Given the description of an element on the screen output the (x, y) to click on. 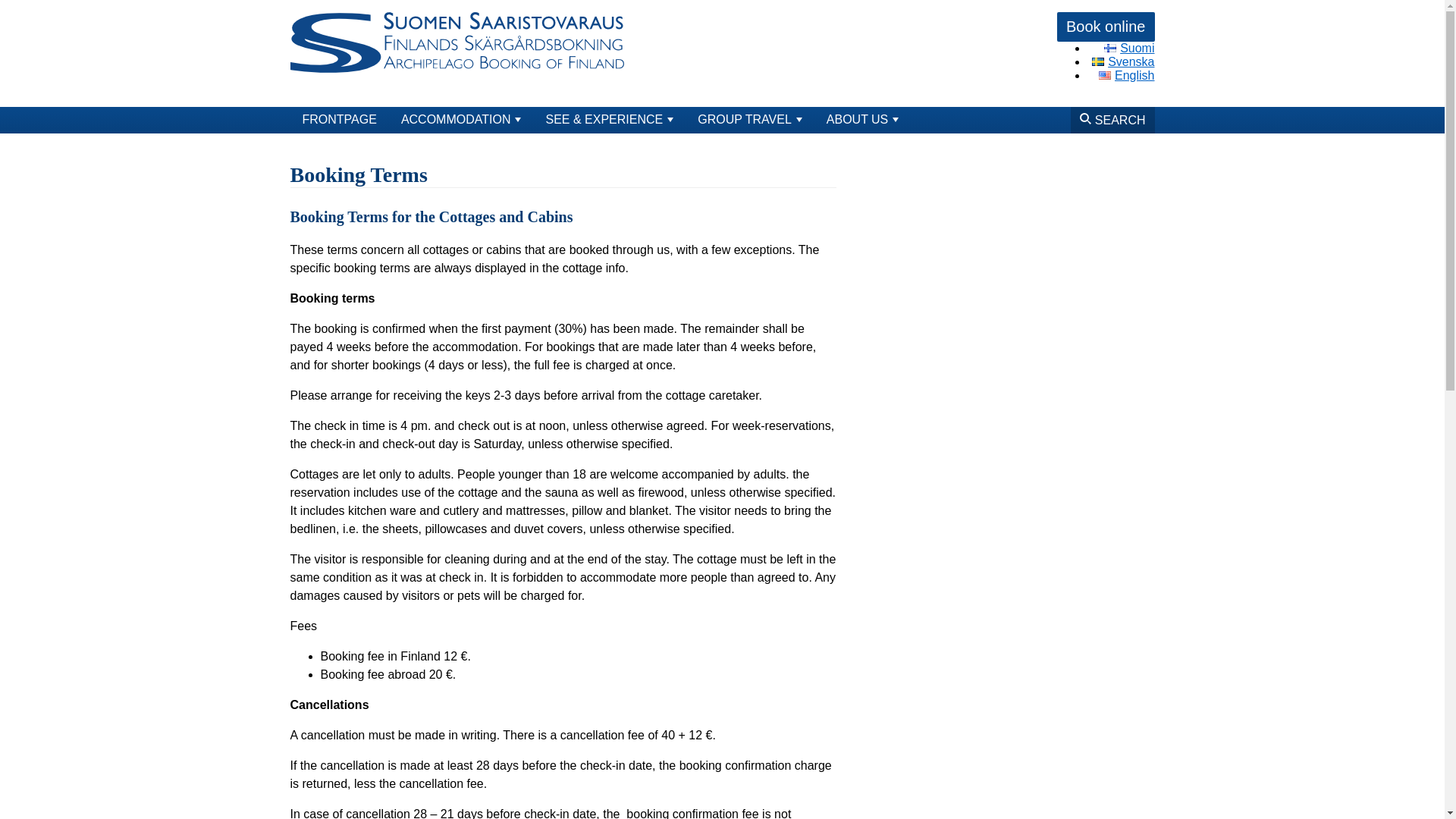
Svenska (1123, 61)
English (1126, 74)
ACCOMMODATION (461, 119)
Suomi (1128, 47)
FRONTPAGE (338, 119)
Search (1117, 148)
ABOUT US (862, 119)
SEARCH (1112, 120)
Book online (1105, 26)
GROUP TRAVEL (749, 119)
